Given the description of an element on the screen output the (x, y) to click on. 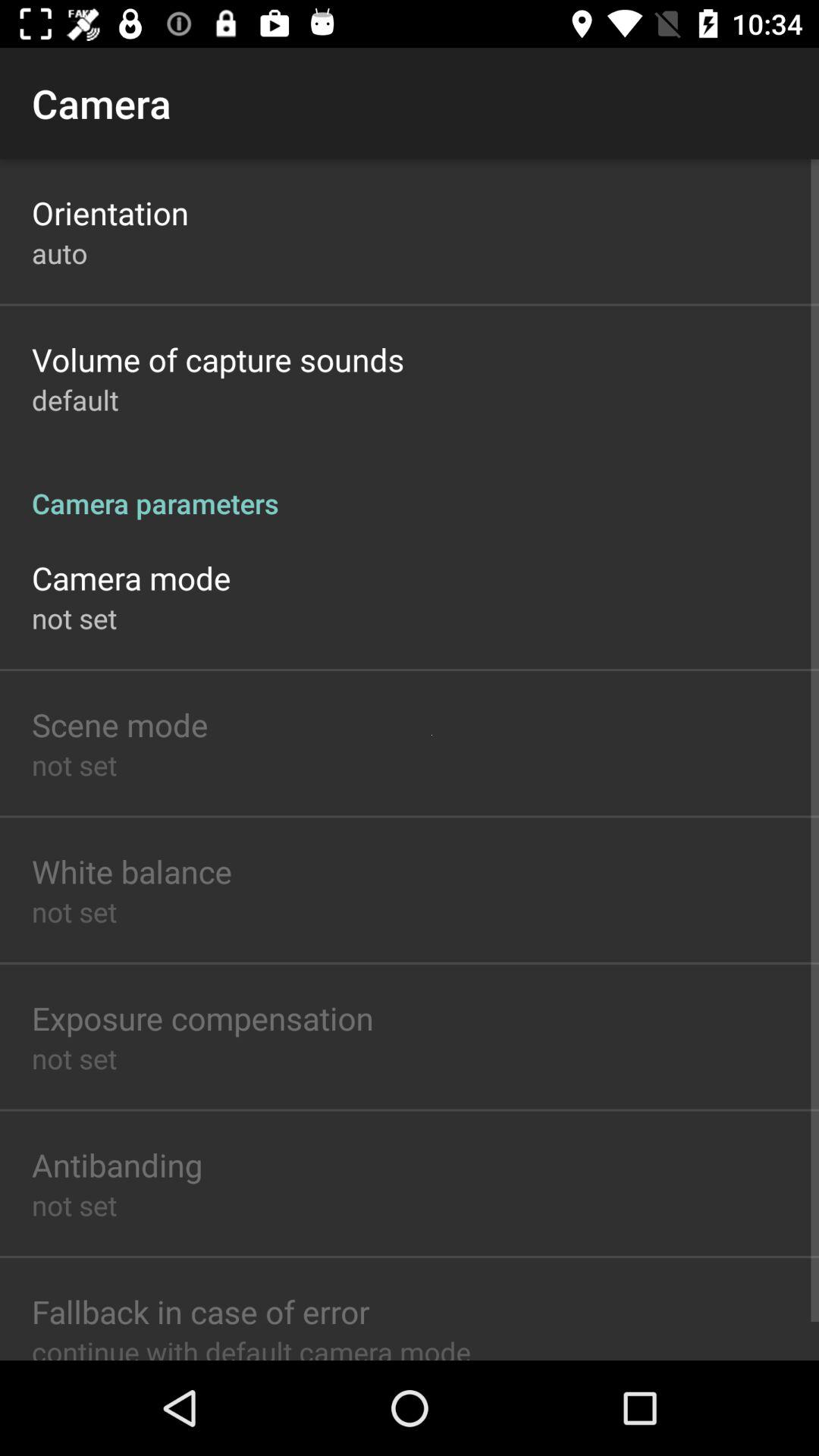
launch the icon above the camera mode icon (409, 487)
